Given the description of an element on the screen output the (x, y) to click on. 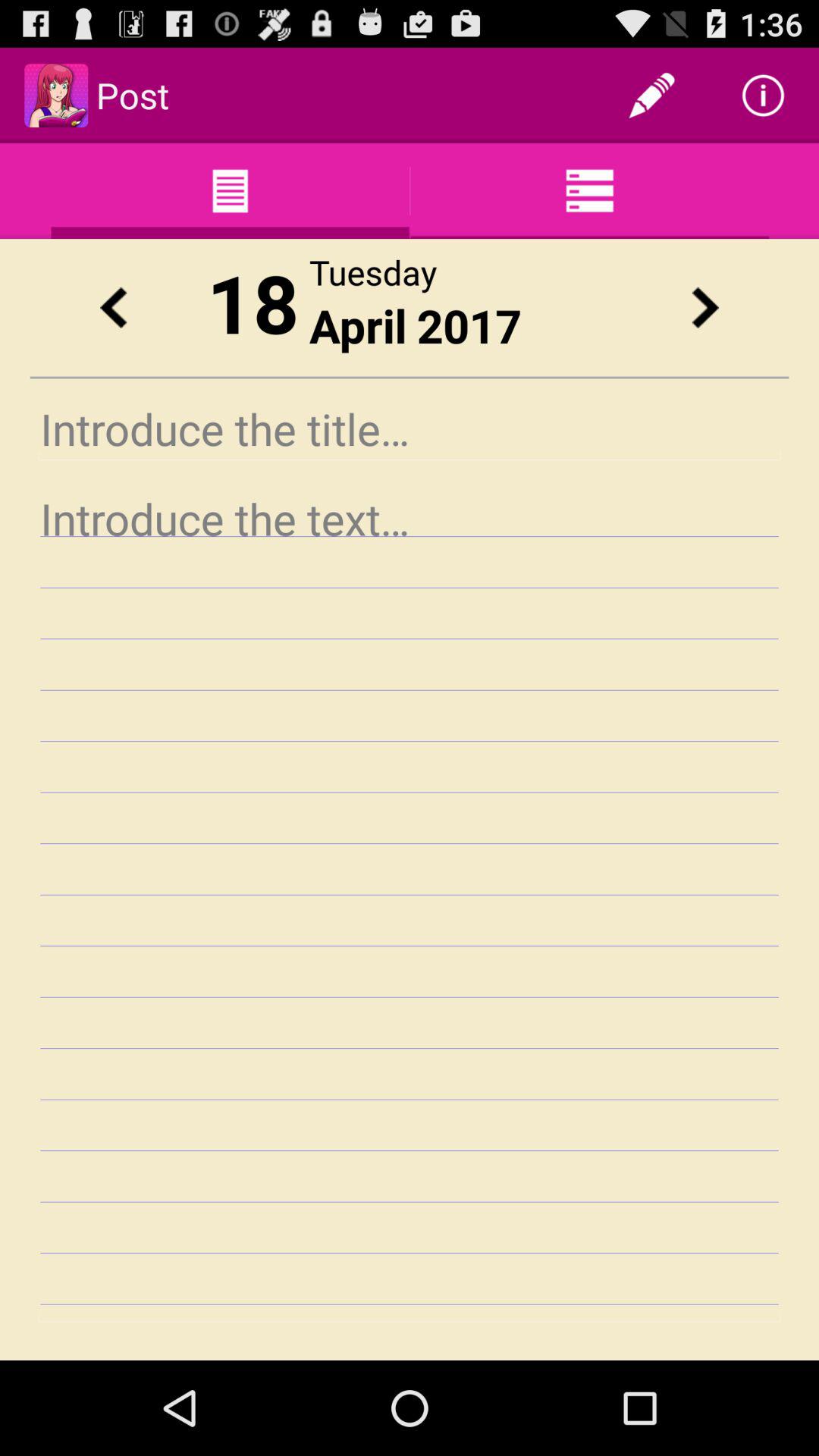
open item to the right of post (651, 95)
